Given the description of an element on the screen output the (x, y) to click on. 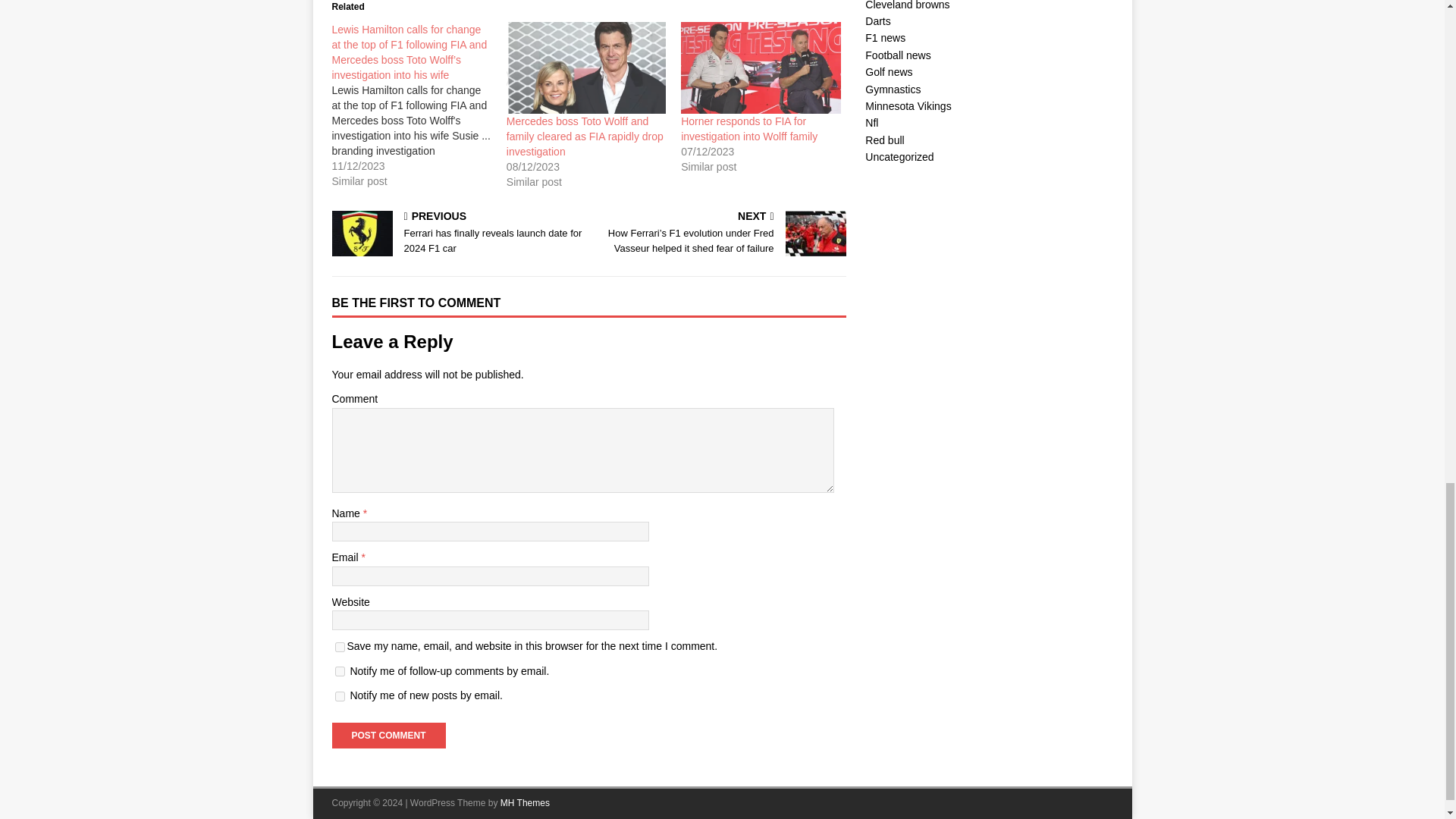
Post Comment (388, 735)
subscribe (339, 696)
subscribe (339, 671)
Horner responds to FIA for investigation into Wolff family (748, 128)
Horner responds to FIA for investigation into Wolff family (760, 67)
Horner responds to FIA for investigation into Wolff family (748, 128)
